Given the description of an element on the screen output the (x, y) to click on. 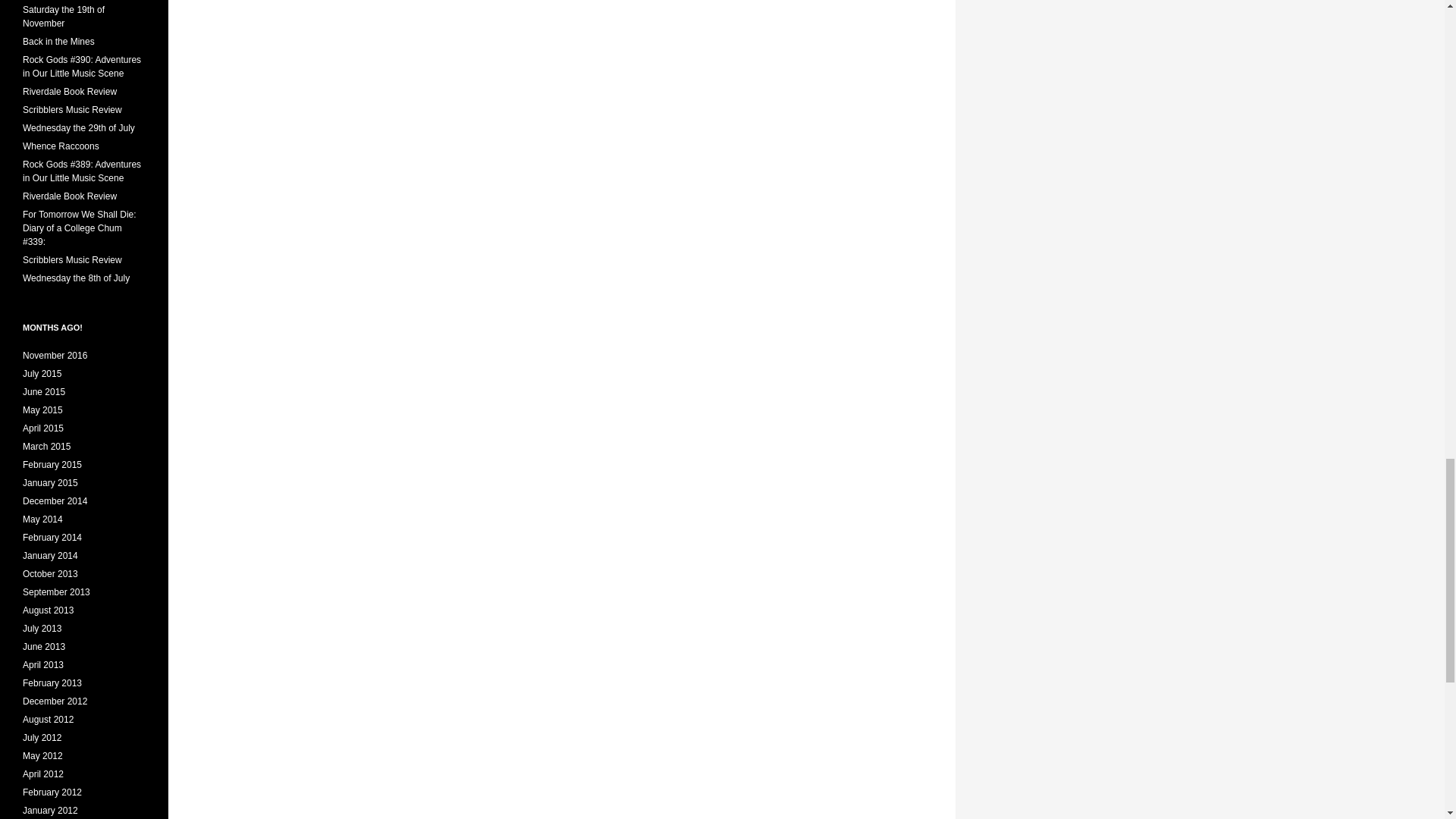
Whence Raccoons (61, 145)
Wednesday the 29th of July (79, 127)
Scribblers Music Review (72, 109)
Riverdale Book Review (69, 91)
Saturday the 19th of November (63, 16)
Back in the Mines (58, 41)
